Given the description of an element on the screen output the (x, y) to click on. 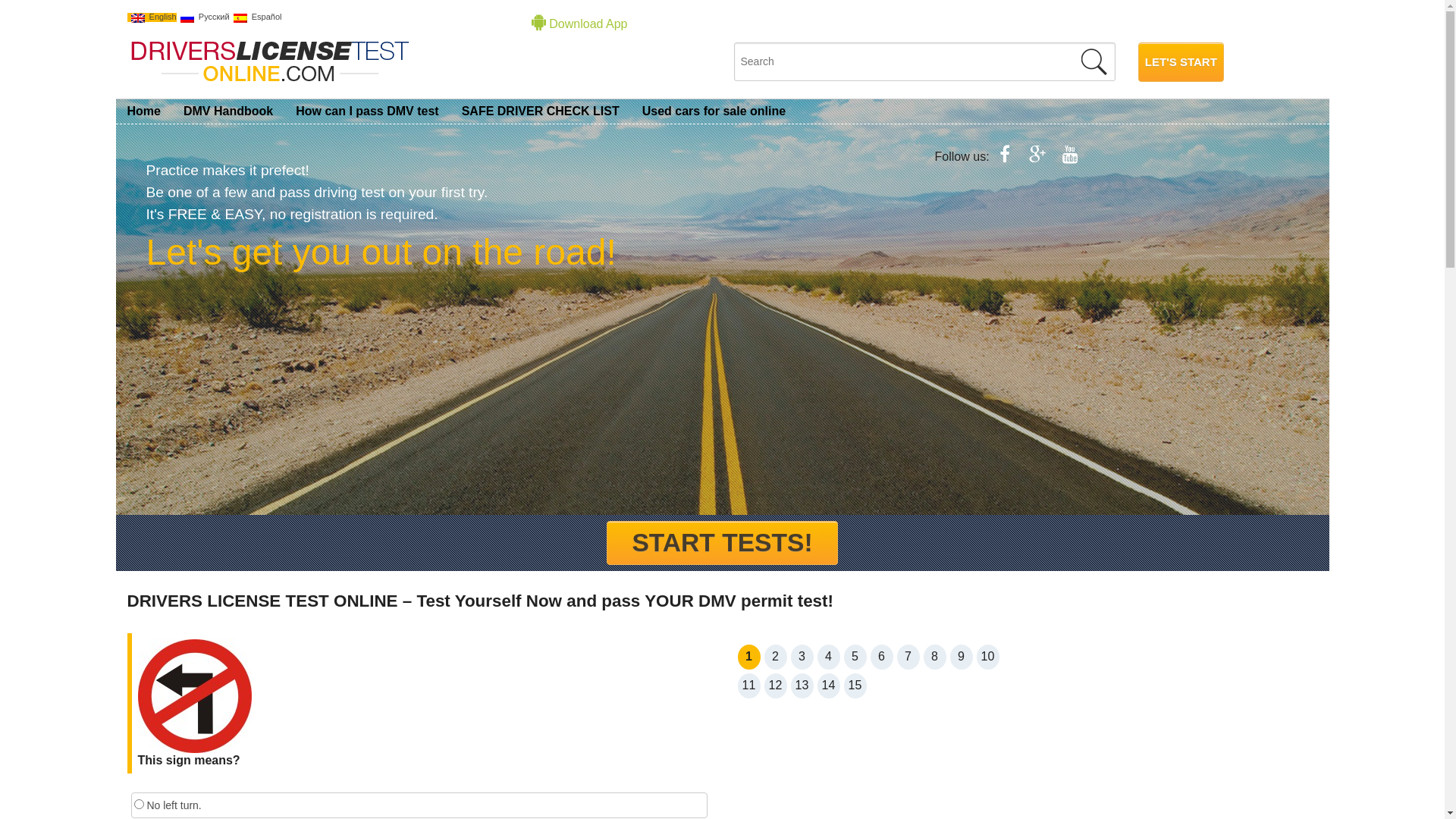
Used cars for sale online Element type: text (713, 110)
How can I pass DMV test Element type: text (367, 110)
SAFE DRIVER CHECK LIST Element type: text (540, 110)
START TESTS! Element type: text (721, 542)
DMV Handbook Element type: text (228, 110)
  English Element type: text (151, 16)
let's start Element type: text (1180, 61)
Home Element type: text (143, 110)
English Element type: hover (137, 17)
Download App Element type: text (579, 23)
